Given the description of an element on the screen output the (x, y) to click on. 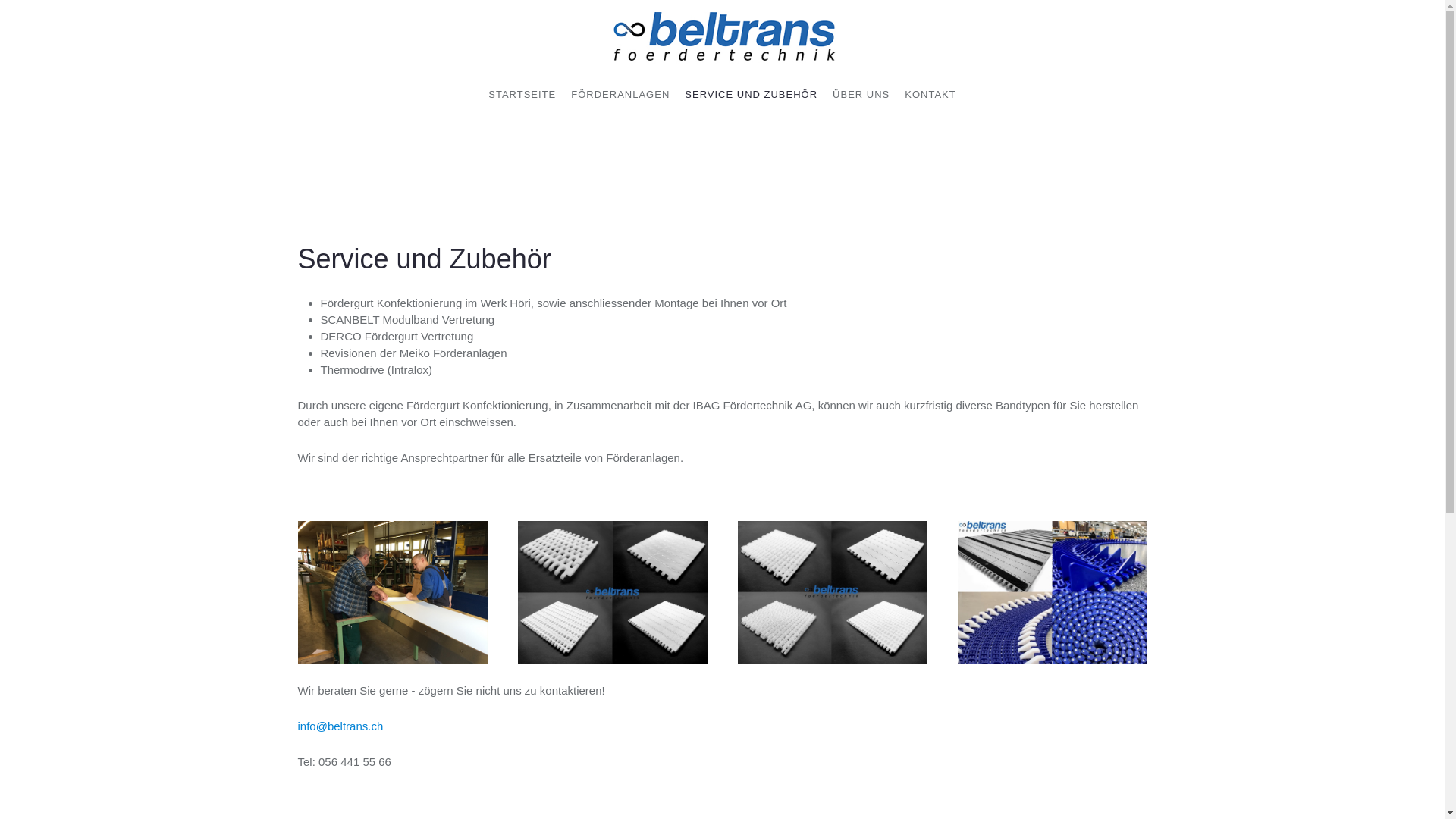
KONTAKT Element type: text (930, 94)
info@beltrans.ch Element type: text (339, 725)
STARTSEITE Element type: text (521, 94)
